Given the description of an element on the screen output the (x, y) to click on. 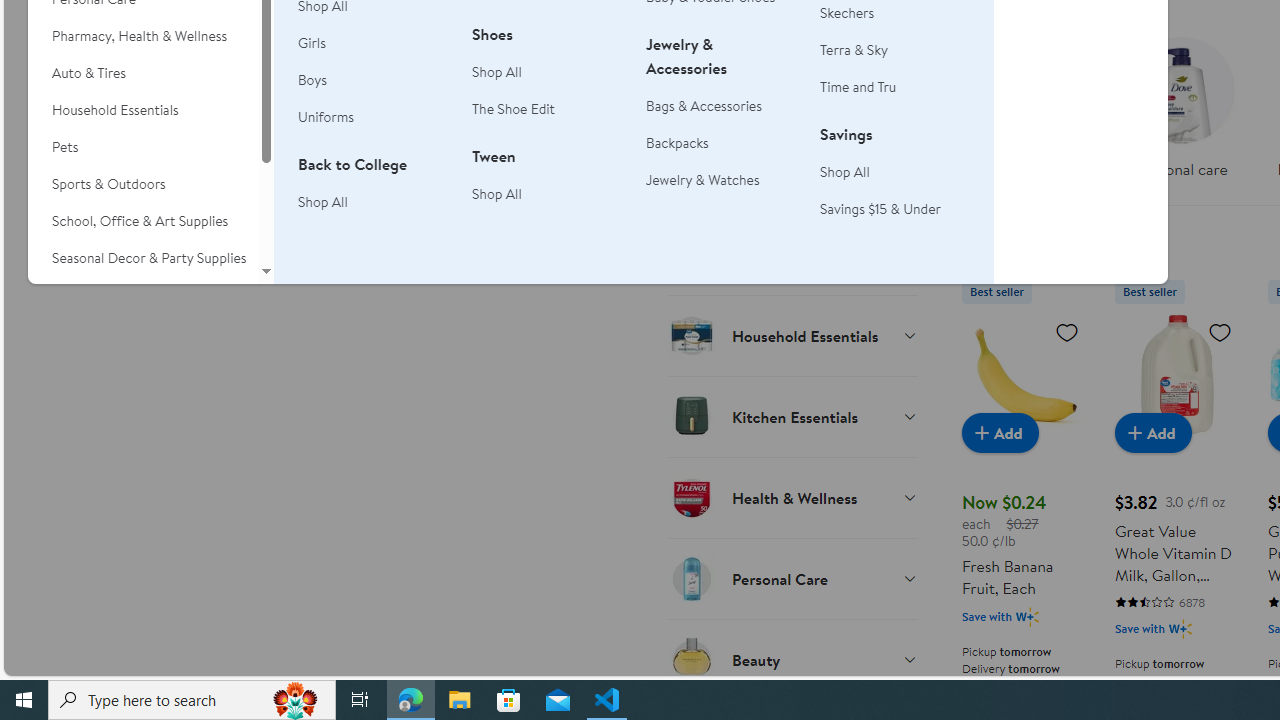
Uniforms (326, 116)
Terra & Sky (854, 49)
Pets (143, 147)
Boys (373, 79)
Savings $15 & Under (880, 208)
Auto & Tires (143, 73)
Auto & Tires (143, 73)
Time and Tru (858, 87)
Household Essentials (143, 110)
Alcohol (792, 173)
Movies, Music & Books (143, 295)
Shop All (895, 172)
Terra & Sky (895, 50)
Personal care (1180, 114)
